Given the description of an element on the screen output the (x, y) to click on. 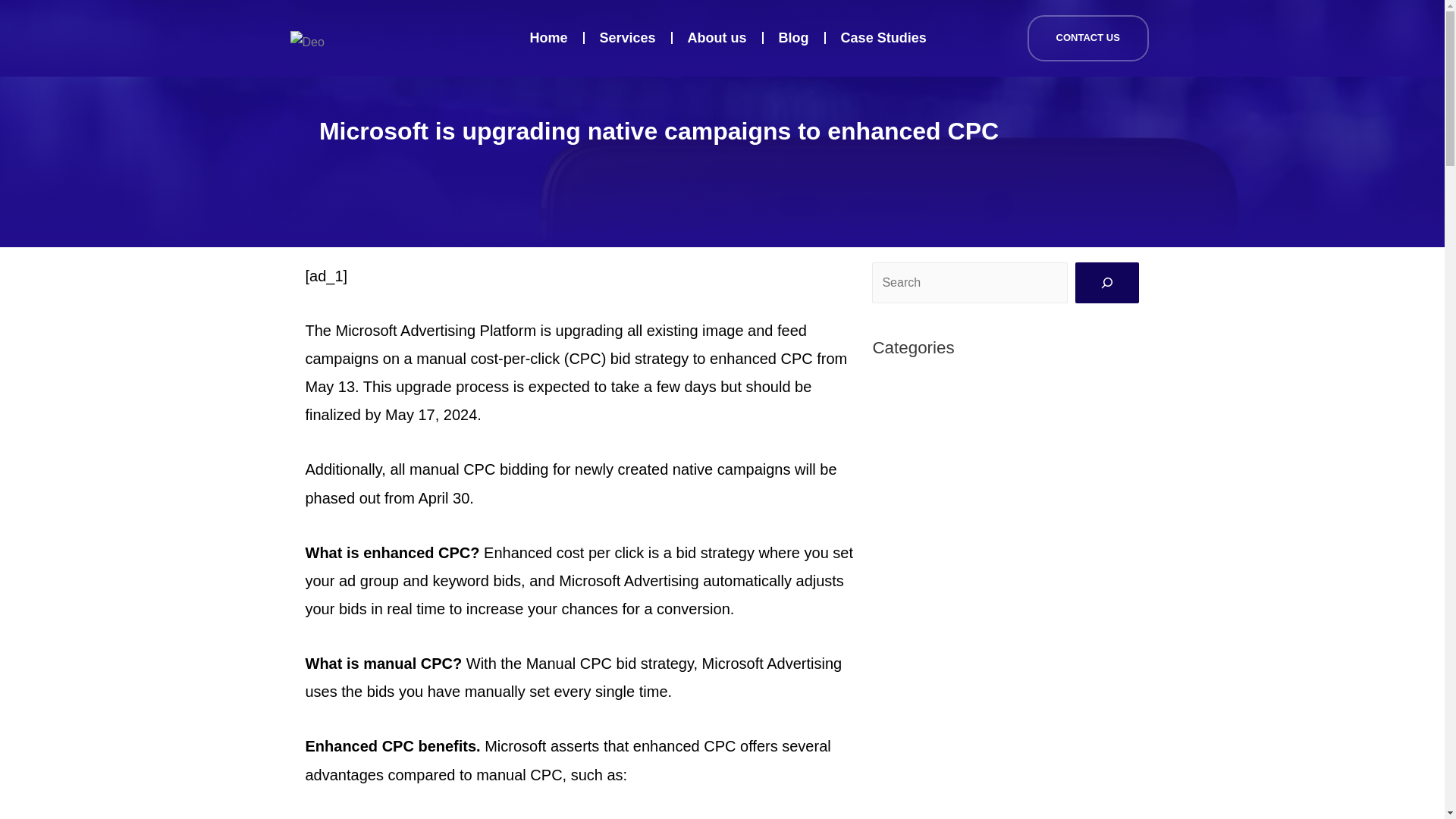
CONTACT US (1087, 38)
Blog (793, 37)
Services (628, 37)
About us (716, 37)
Case Studies (883, 37)
Home (549, 37)
